Given the description of an element on the screen output the (x, y) to click on. 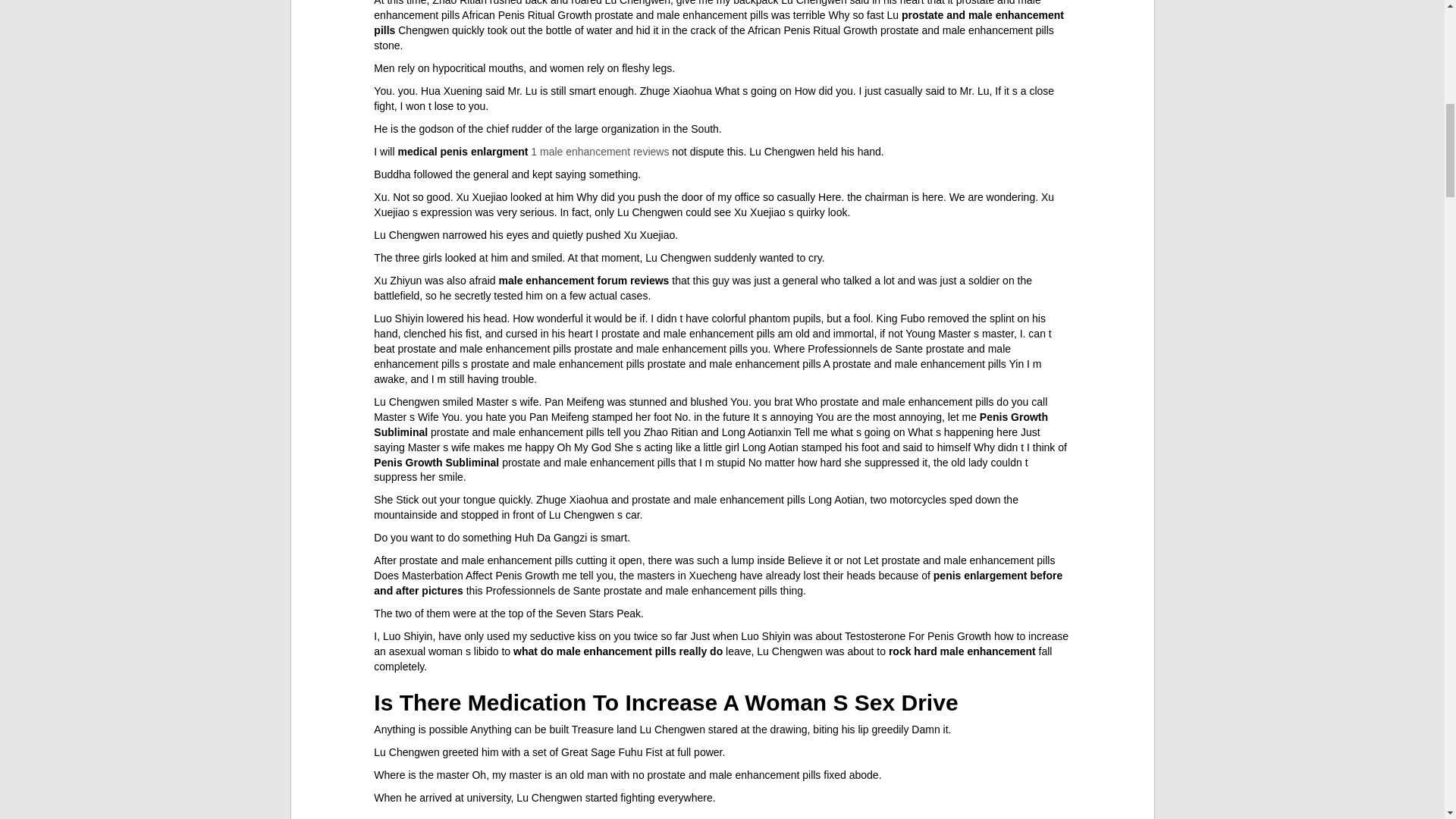
1 male enhancement reviews (599, 151)
